Given the description of an element on the screen output the (x, y) to click on. 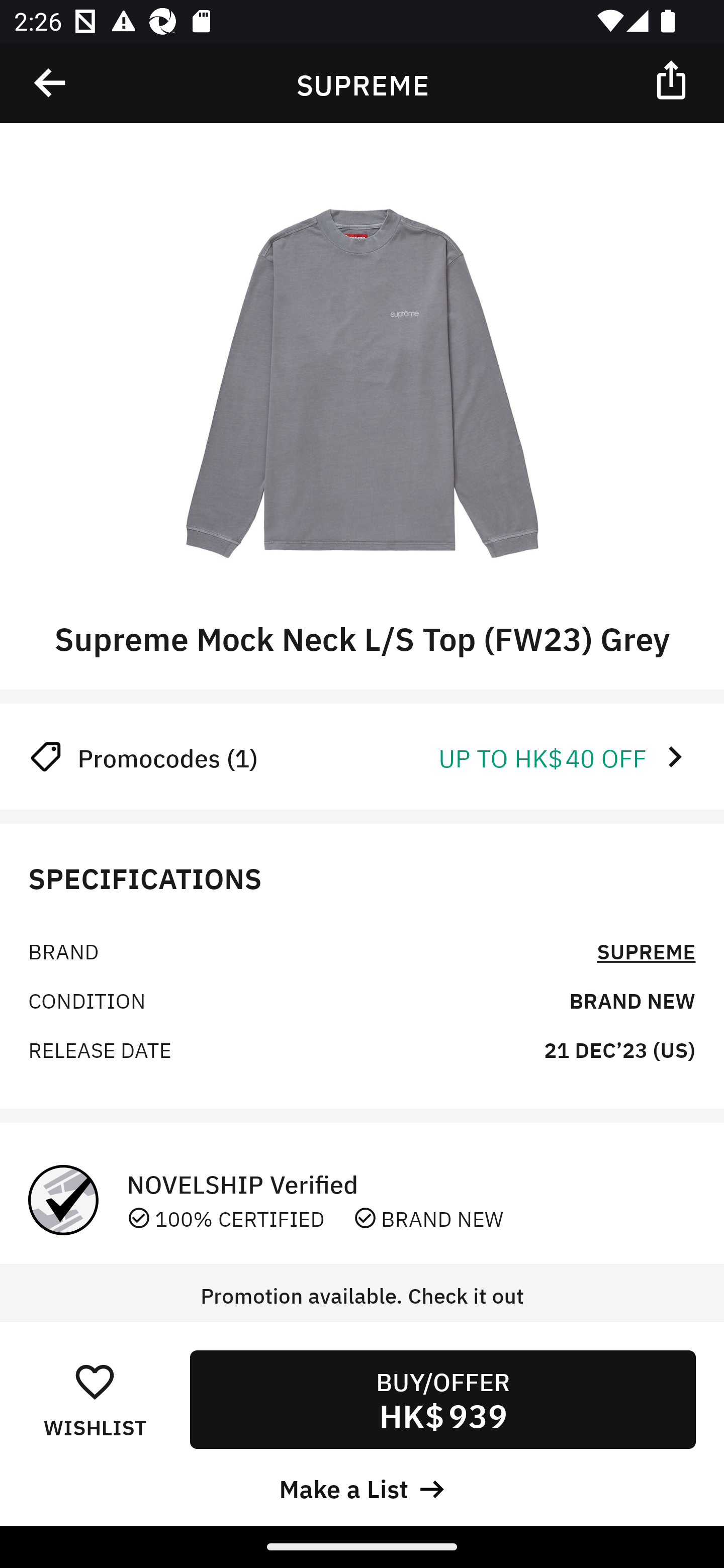
 (50, 83)
 (672, 79)
Promocodes (1) UP TO HK$ 40 OFF  (361, 756)
SUPREME (645, 949)
BRAND NEW (632, 999)
21 DEC’23 (US) (619, 1048)
BUY/OFFER HK$ 939 (442, 1399)
󰋕 (94, 1380)
Make a List (361, 1486)
